Given the description of an element on the screen output the (x, y) to click on. 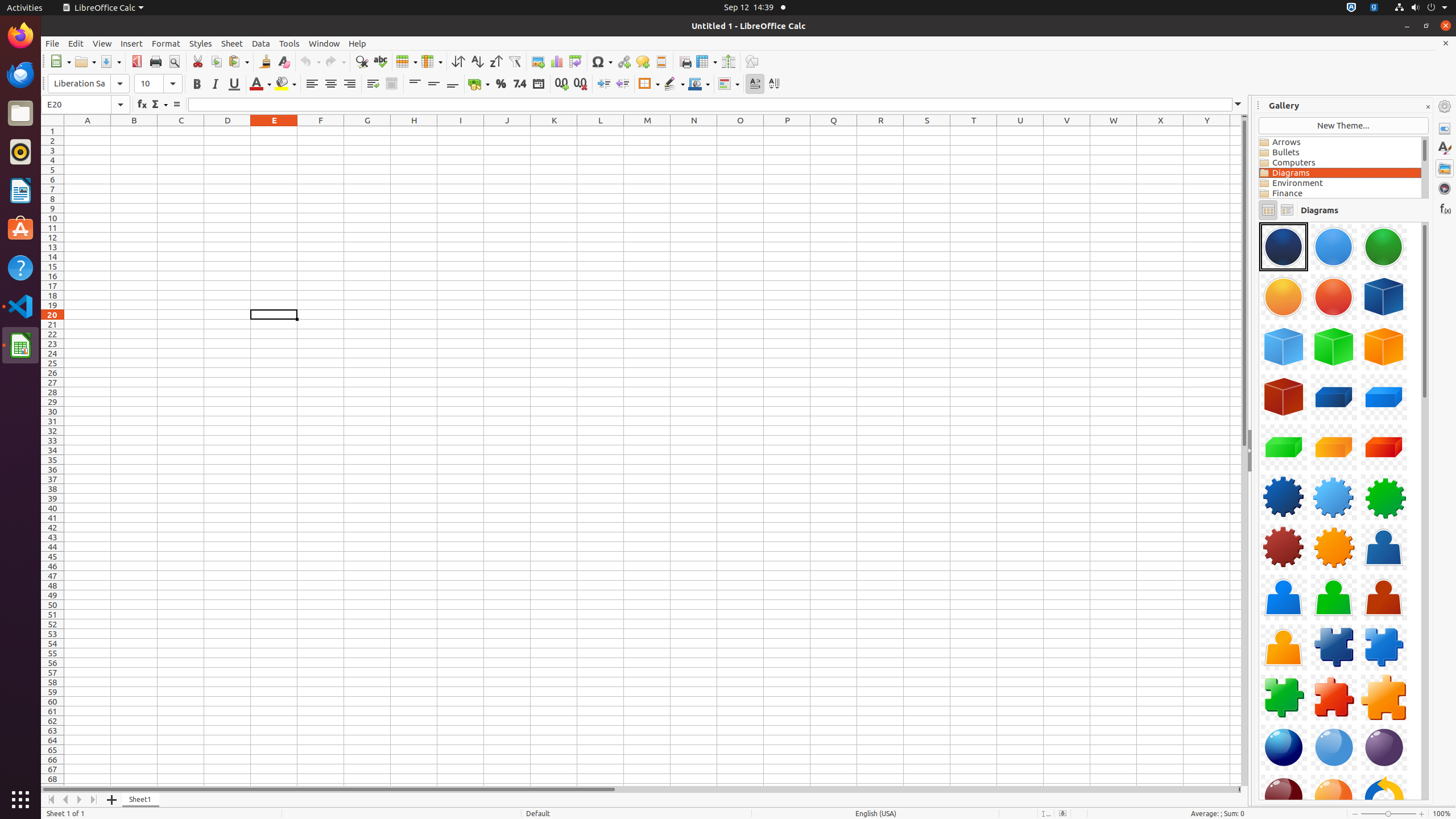
Select Function Element type: push-button (159, 104)
X1 Element type: table-cell (1159, 130)
Component-Cuboid04-Orange Element type: list-item (1333, 446)
Undo Element type: push-button (309, 61)
